Given the description of an element on the screen output the (x, y) to click on. 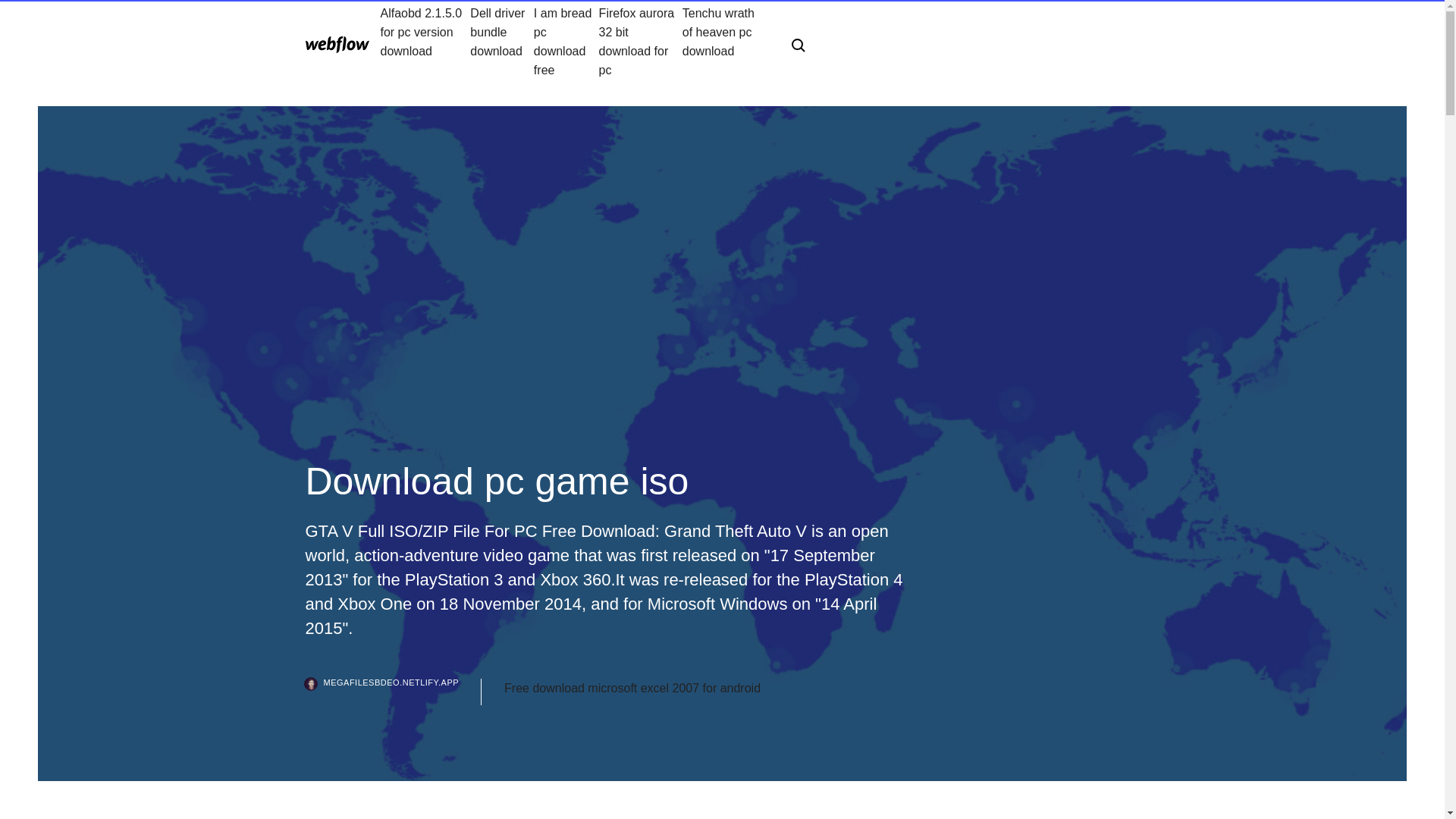
I am bread pc download free (566, 41)
Alfaobd 2.1.5.0 for pc version download (425, 41)
MEGAFILESBDEO.NETLIFY.APP (392, 691)
Dell driver bundle download (502, 41)
Firefox aurora 32 bit download for pc (640, 41)
Tenchu wrath of heaven pc download (724, 41)
Free download microsoft excel 2007 for android (631, 687)
